Given the description of an element on the screen output the (x, y) to click on. 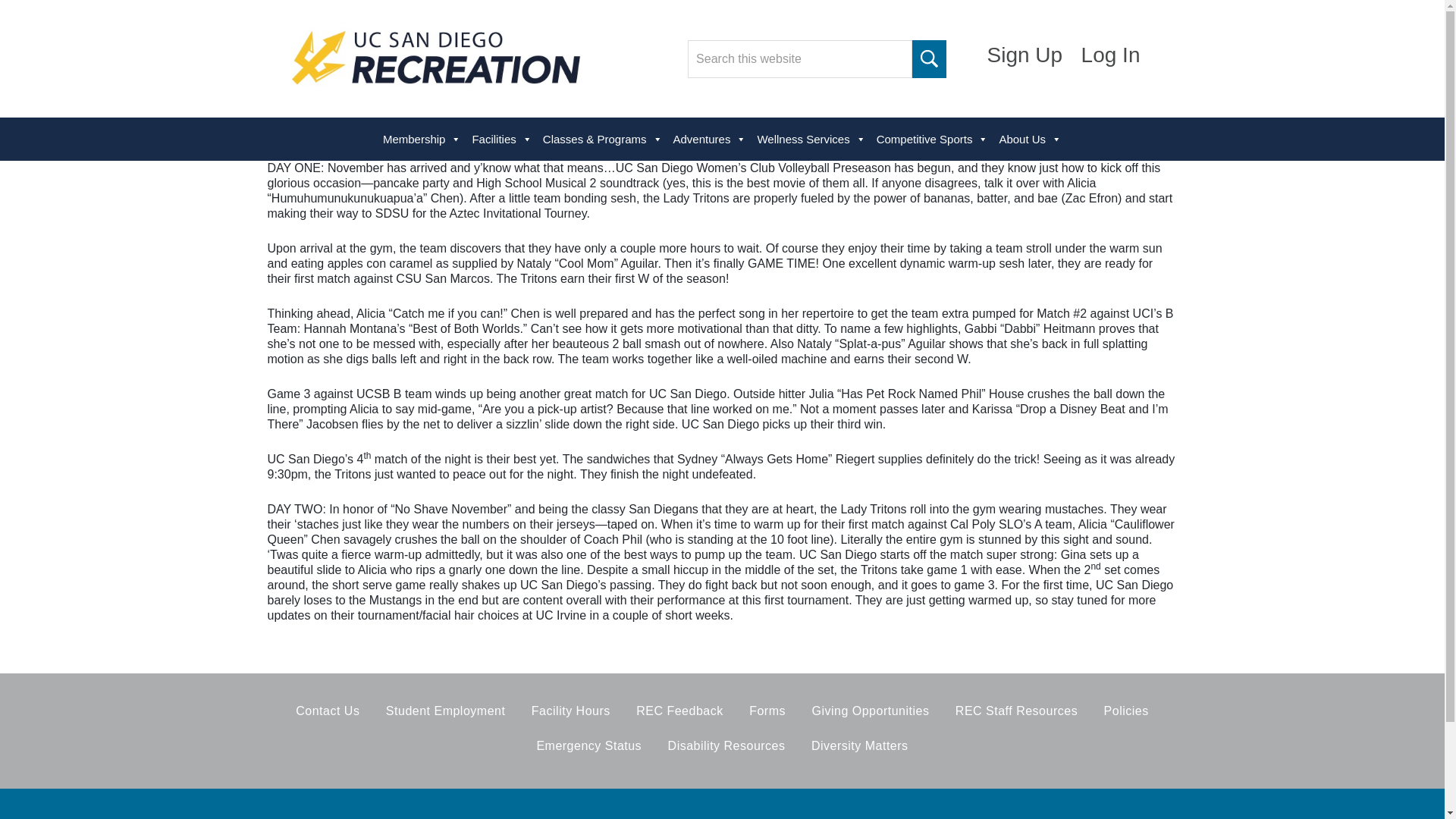
Competitive Sports (932, 138)
Search (929, 58)
Search (929, 58)
Wellness Services (810, 138)
Facilities (501, 138)
Adventures (710, 138)
Log In (1110, 54)
Search (929, 58)
Membership (422, 138)
Sign Up (1024, 54)
